Given the description of an element on the screen output the (x, y) to click on. 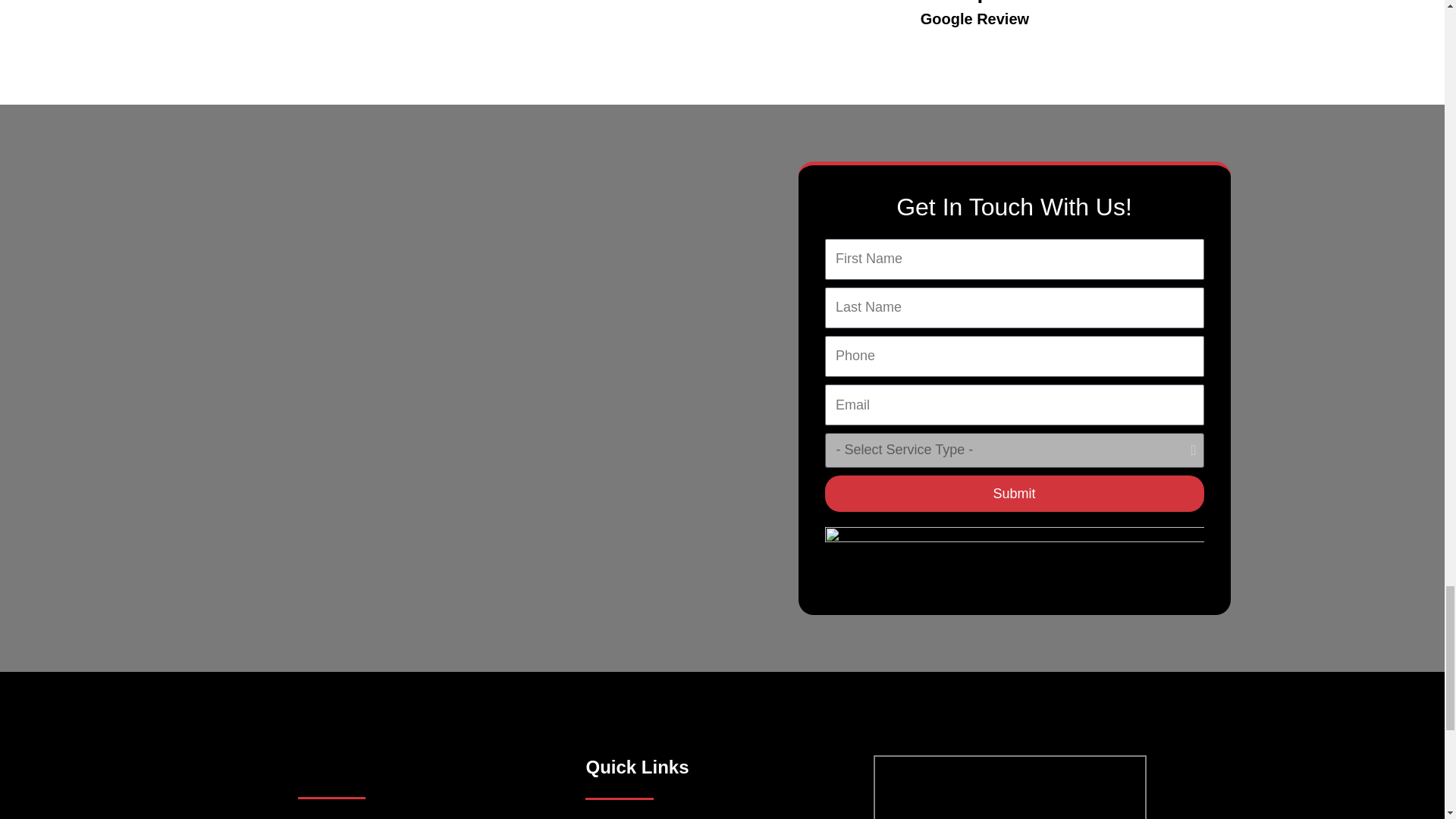
1339 Camp Creek Rd, Taylors, SC 29687 (1009, 787)
